Given the description of an element on the screen output the (x, y) to click on. 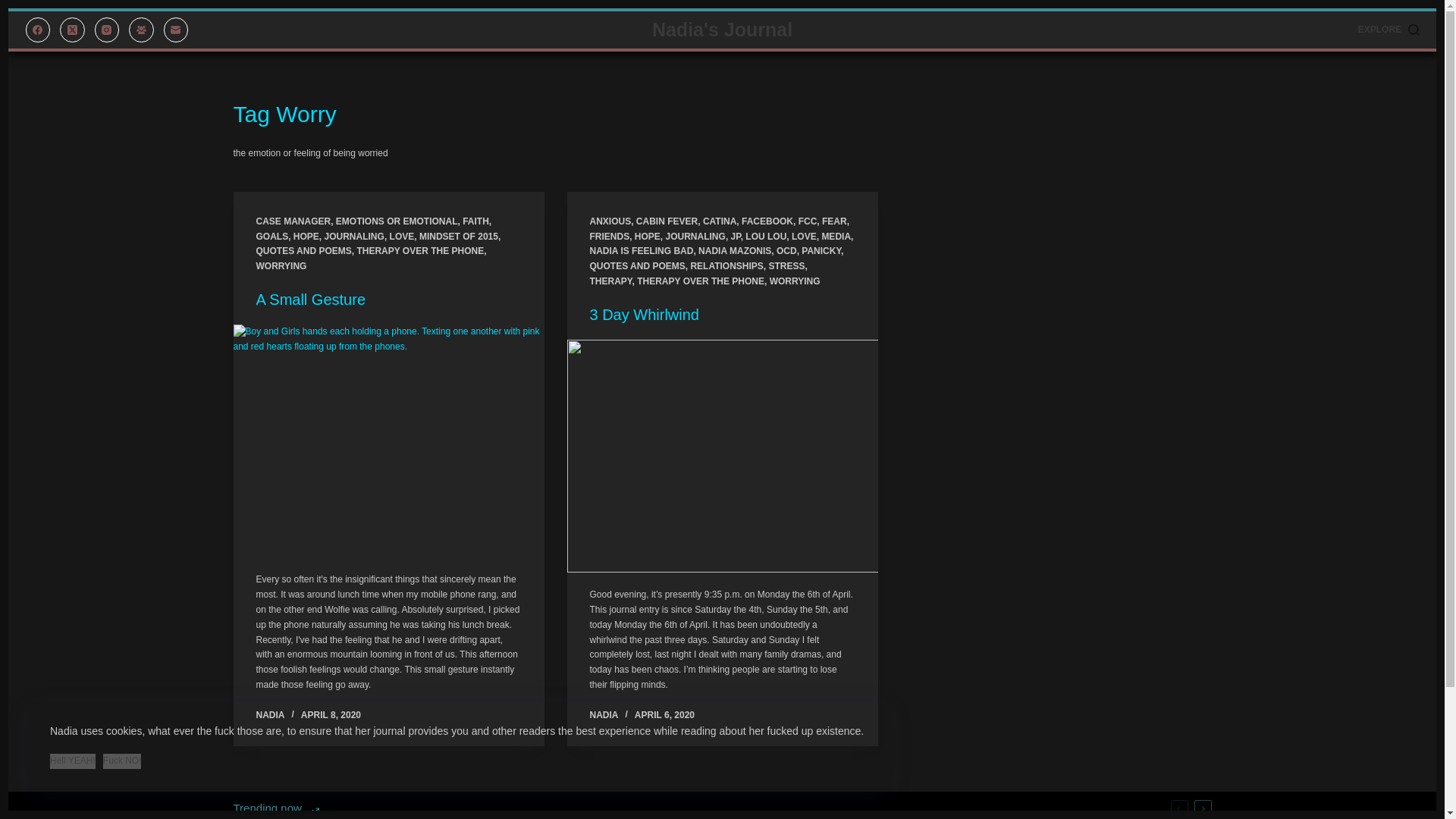
CASE MANAGER (293, 221)
LOU LOU (765, 235)
CATINA (719, 221)
Tag worry (721, 114)
WORRYING (281, 266)
GOALS (272, 235)
FAITH (476, 221)
EXPLORE (1388, 29)
MINDSET OF 2015 (458, 235)
Fuck NO! (122, 761)
FRIENDS (609, 235)
QUOTES AND POEMS (304, 250)
FEAR (834, 221)
Hell YEAH! (72, 761)
ANXIOUS (610, 221)
